Given the description of an element on the screen output the (x, y) to click on. 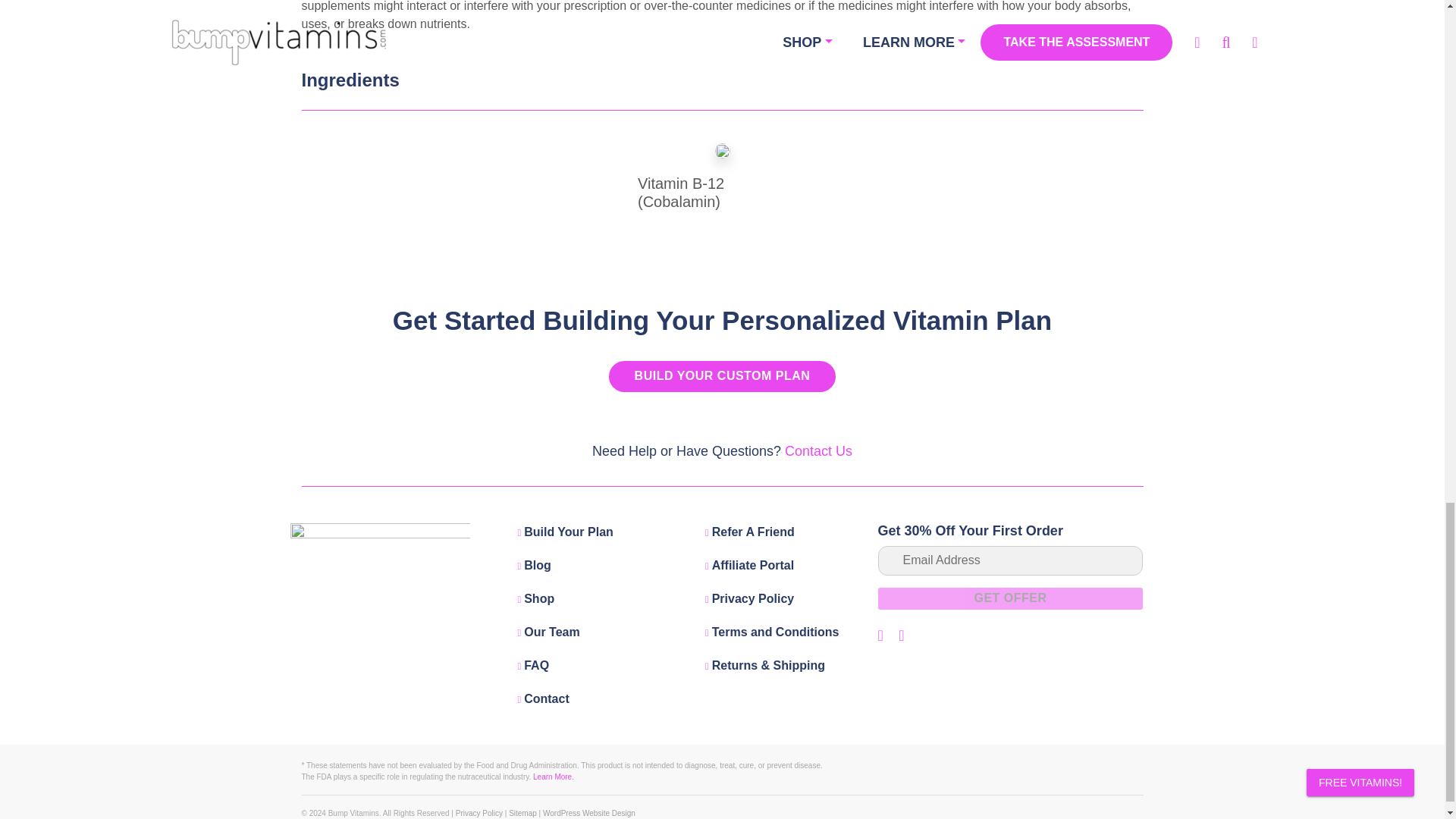
Our Team (547, 631)
Learn More. (552, 777)
BUILD YOUR CUSTOM PLAN (721, 376)
Sitemap (522, 813)
FAQ (532, 665)
Affiliate Portal (748, 564)
Contact (542, 698)
Refer A Friend (749, 531)
Never Settle (588, 813)
Contact Us (817, 450)
